Given the description of an element on the screen output the (x, y) to click on. 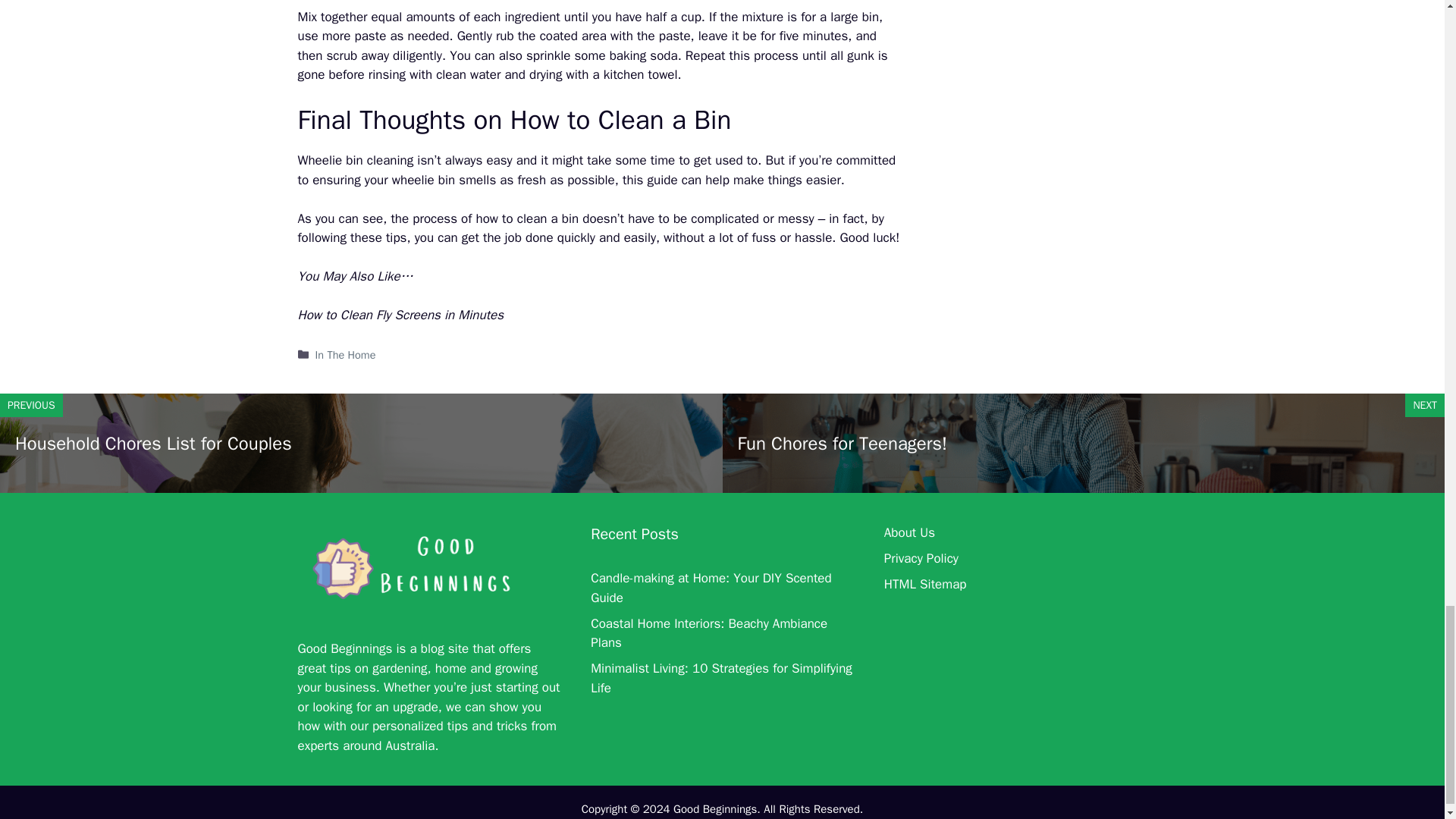
Household Chores List for Couples (153, 443)
In The Home (345, 354)
Privacy Policy (920, 558)
Wheelie bin cleaning (355, 160)
Fun Chores for Teenagers! (841, 443)
How to Clean Fly Screens in Minutes (400, 314)
Candle-making at Home: Your DIY Scented Guide (711, 588)
About Us (908, 532)
Minimalist Living: 10 Strategies for Simplifying Life (721, 678)
Coastal Home Interiors: Beachy Ambiance Plans (709, 633)
